Given the description of an element on the screen output the (x, y) to click on. 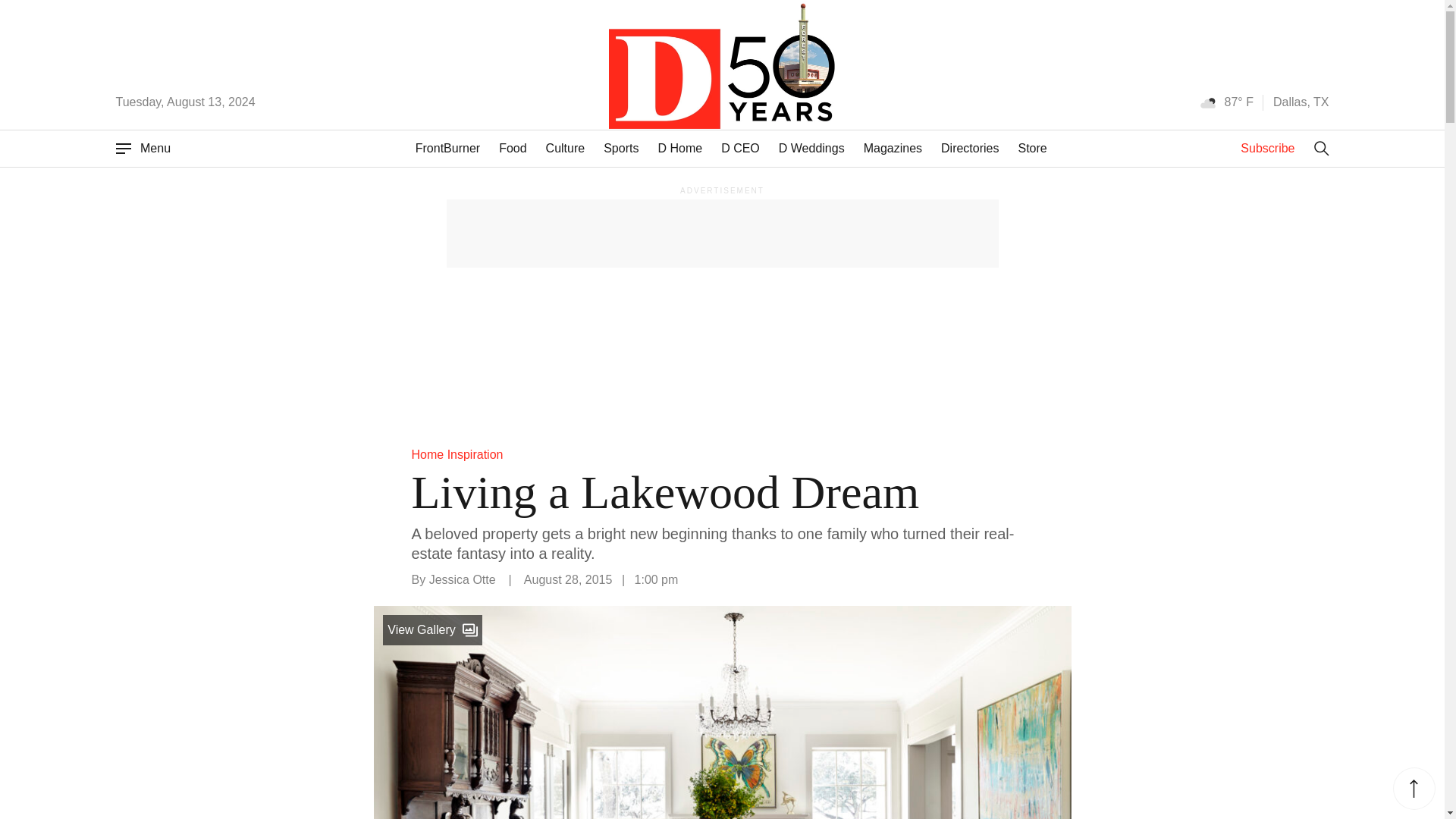
Store (1031, 147)
Culture (565, 147)
Magazines (892, 147)
Directories (969, 147)
Food (512, 147)
Subscribe (1267, 147)
D Weddings (811, 147)
D CEO (740, 147)
FrontBurner (447, 147)
